Given the description of an element on the screen output the (x, y) to click on. 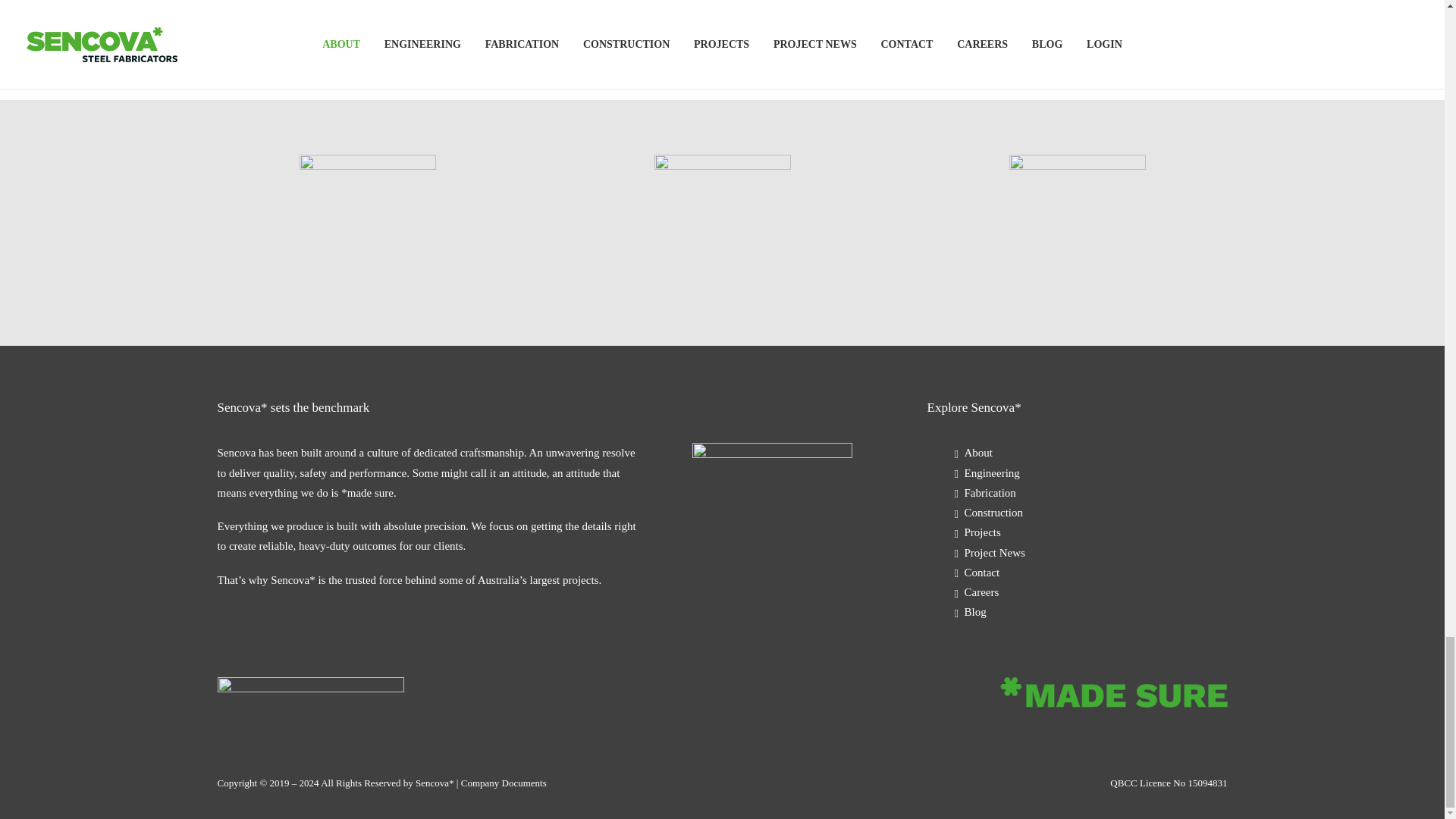
Fabrication (988, 492)
Construction (993, 512)
Blog (974, 612)
Company Documents (504, 782)
Contact (980, 572)
Projects (981, 532)
About (977, 452)
Read more (565, 26)
Read more (109, 26)
Engineering (991, 472)
